Given the description of an element on the screen output the (x, y) to click on. 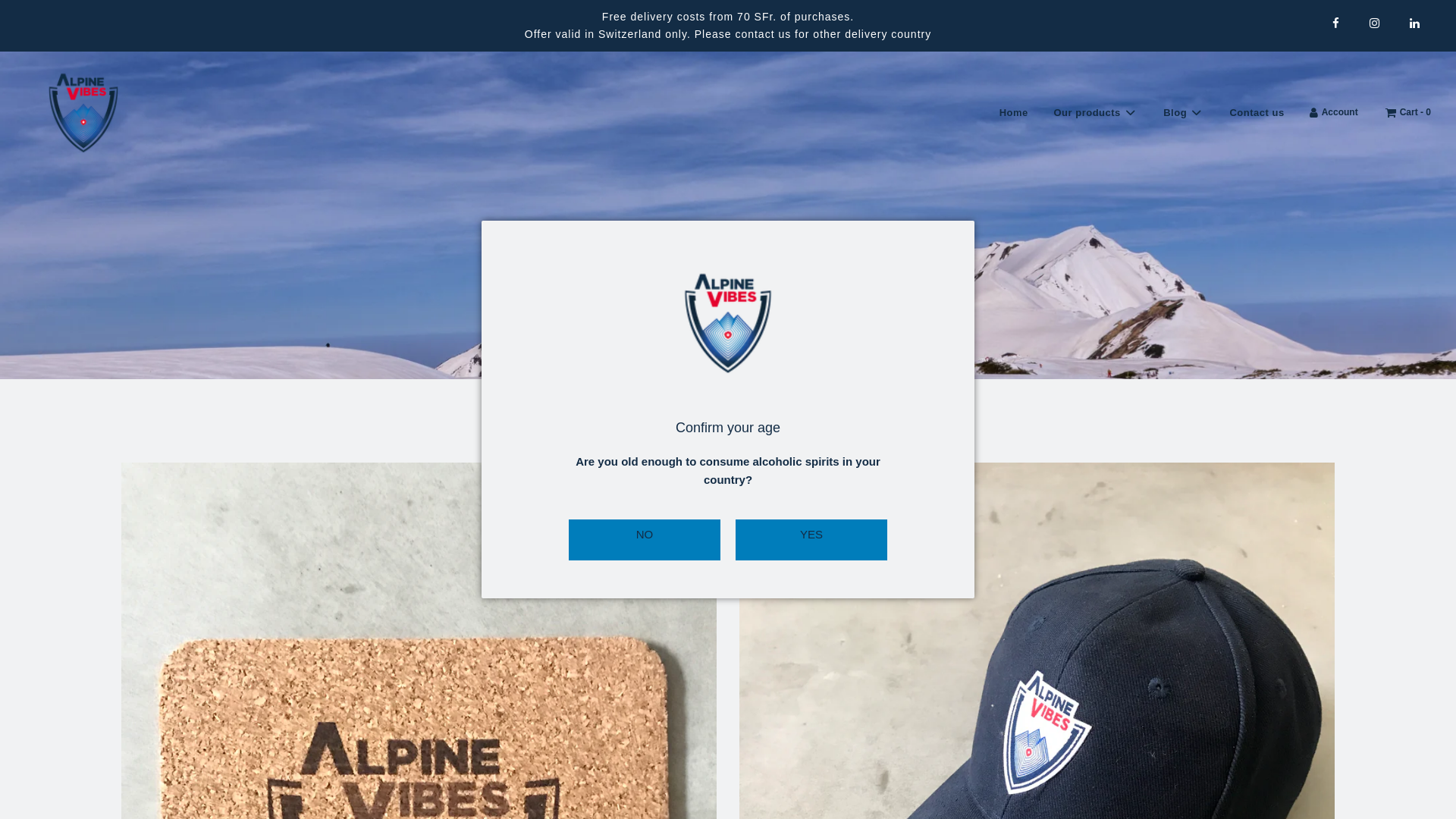
Home (1013, 113)
Log in (1333, 112)
Our products (1095, 113)
